Given the description of an element on the screen output the (x, y) to click on. 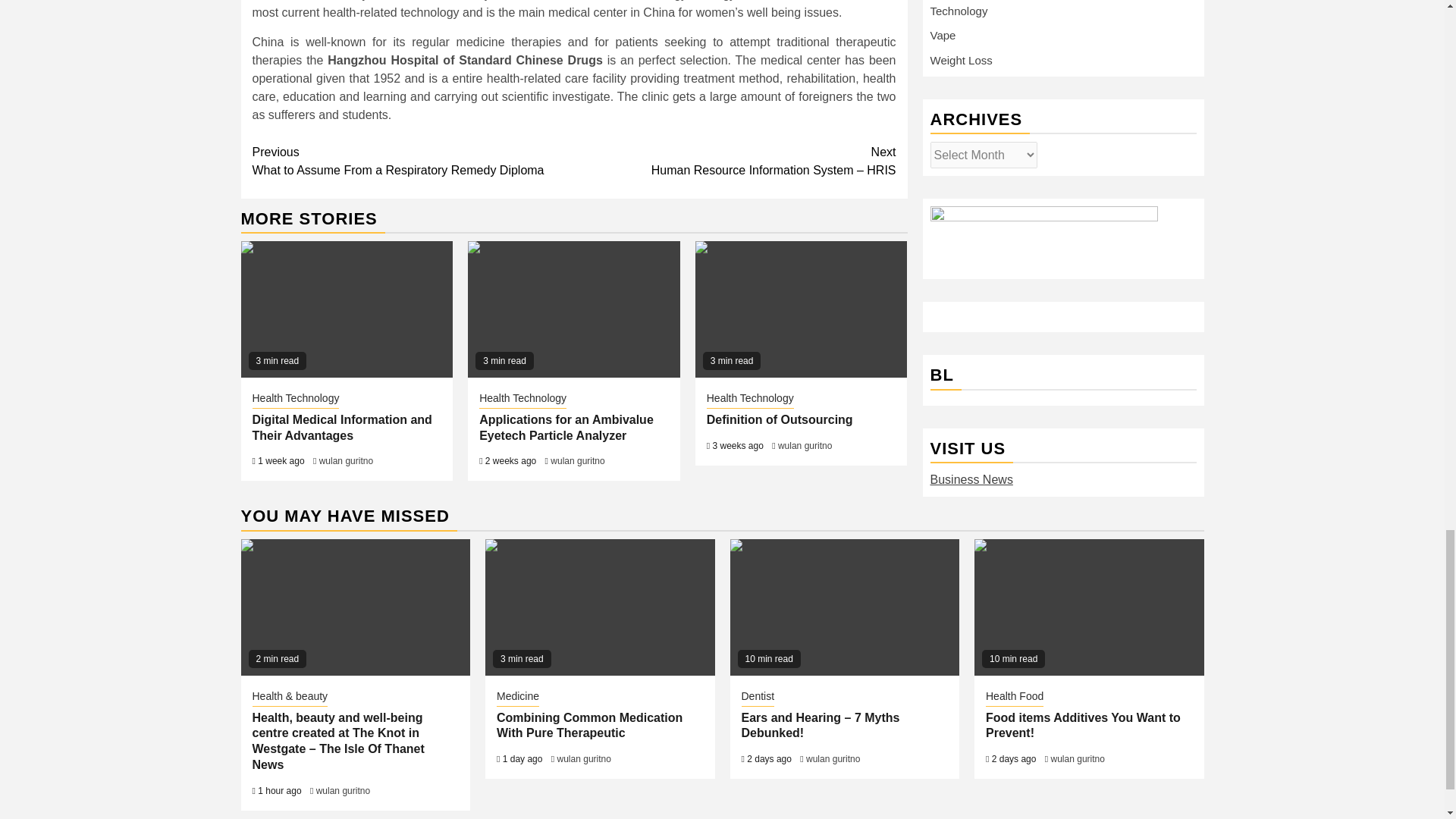
wulan guritno (345, 460)
Applications for an Ambivalue Eyetech Particle Analyzer (566, 427)
Health Technology (749, 399)
Definition of Outsourcing (412, 161)
Digital Medical Information and Their Advantages (801, 308)
wulan guritno (340, 427)
Food items Additives You Want to Prevent! (577, 460)
wulan guritno (1089, 606)
Health Technology (804, 445)
